Given the description of an element on the screen output the (x, y) to click on. 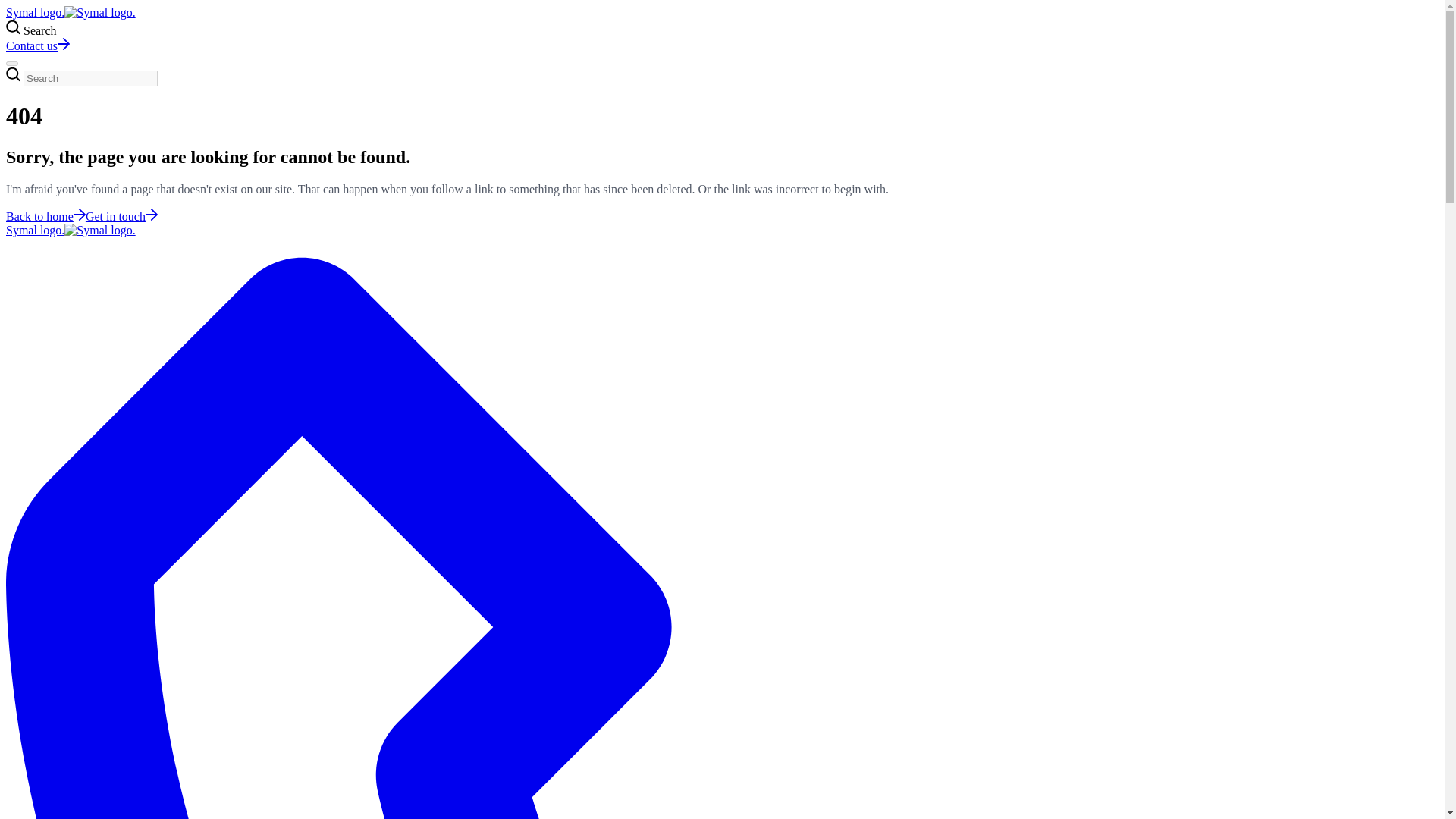
Symal logo. (70, 11)
